Given the description of an element on the screen output the (x, y) to click on. 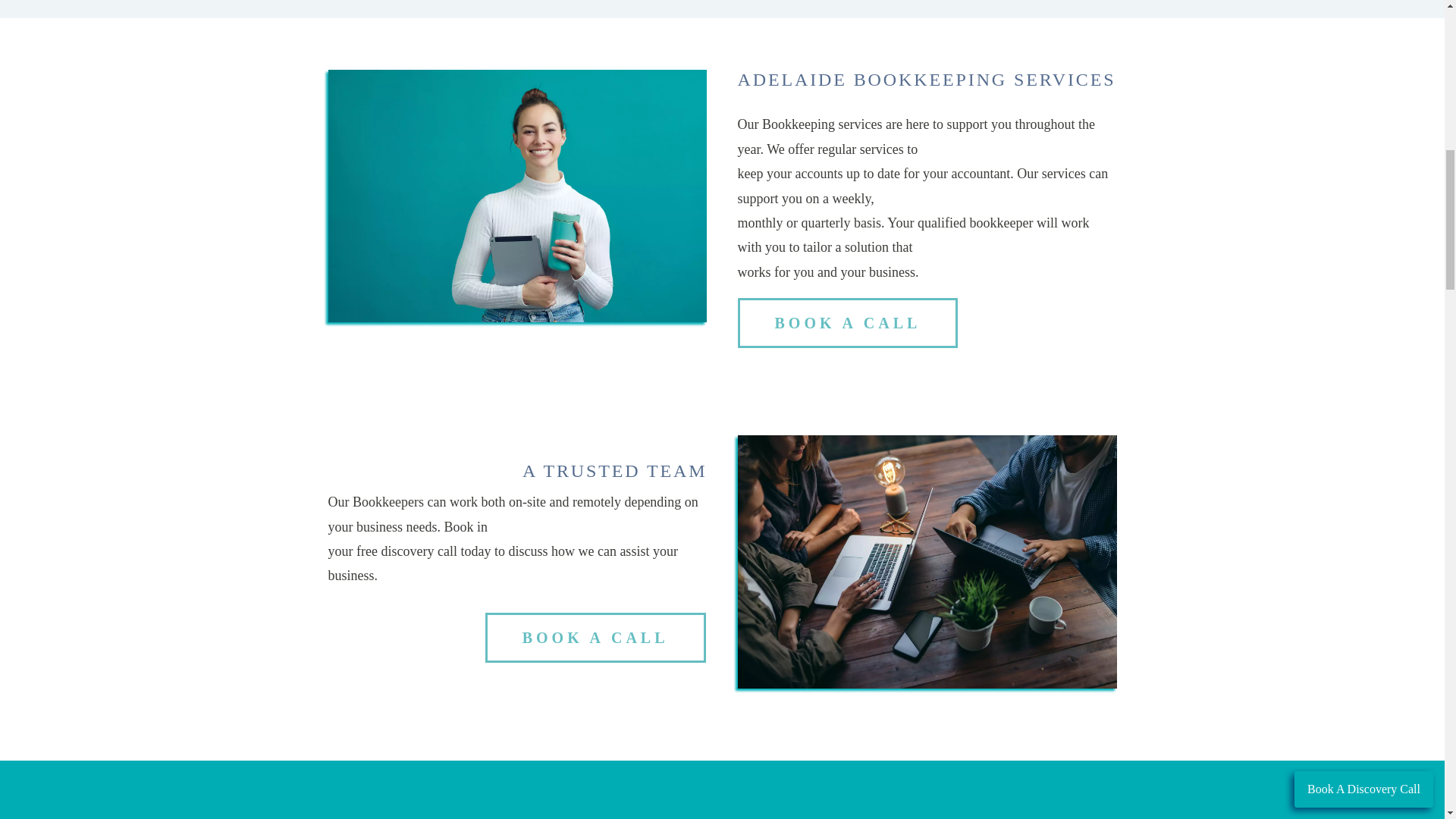
BOOK A CALL (847, 323)
BOOK A CALL (595, 637)
